Given the description of an element on the screen output the (x, y) to click on. 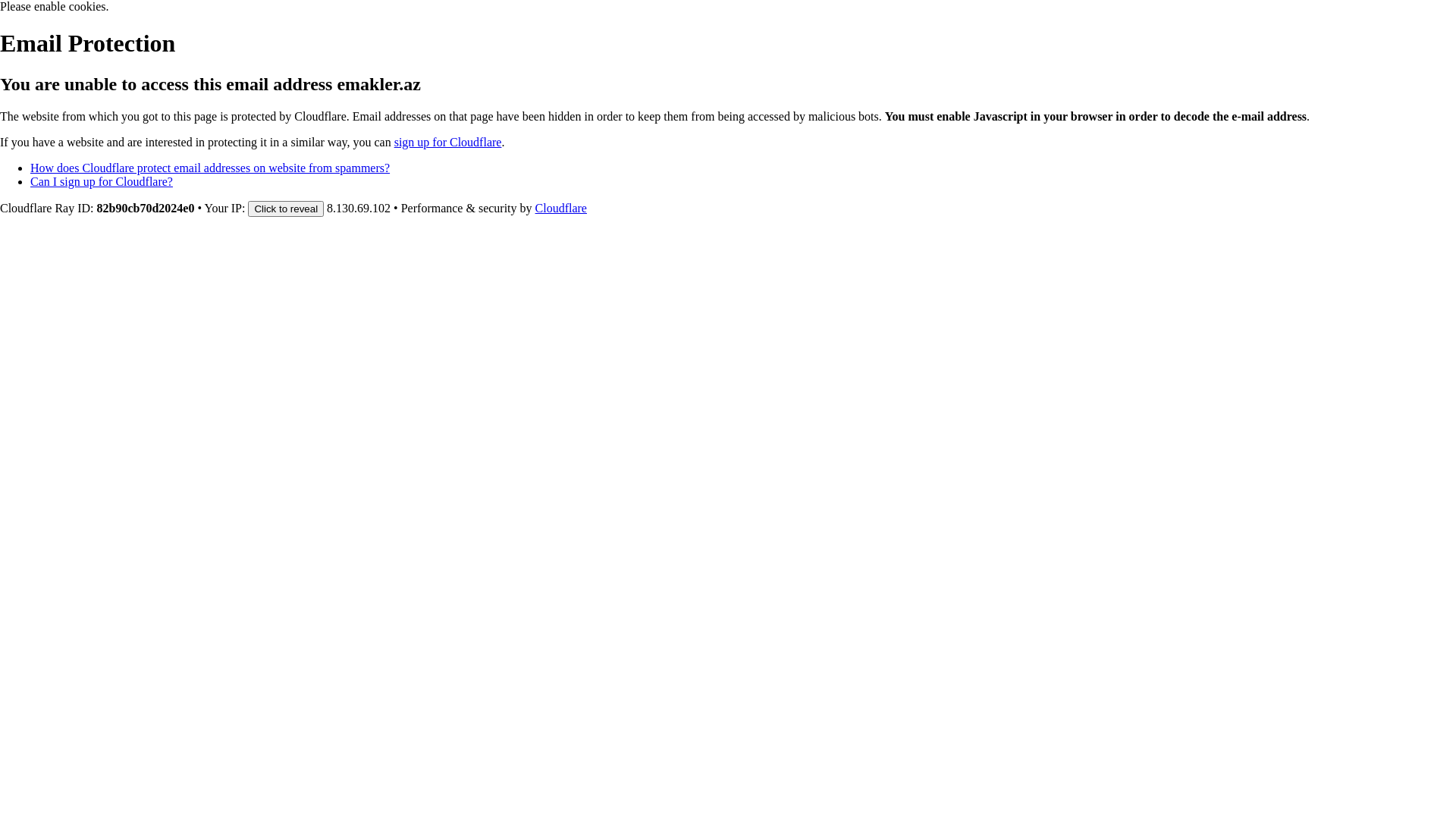
Can I sign up for Cloudflare? Element type: text (101, 181)
Cloudflare Element type: text (560, 207)
sign up for Cloudflare Element type: text (448, 141)
Click to reveal Element type: text (285, 208)
